Given the description of an element on the screen output the (x, y) to click on. 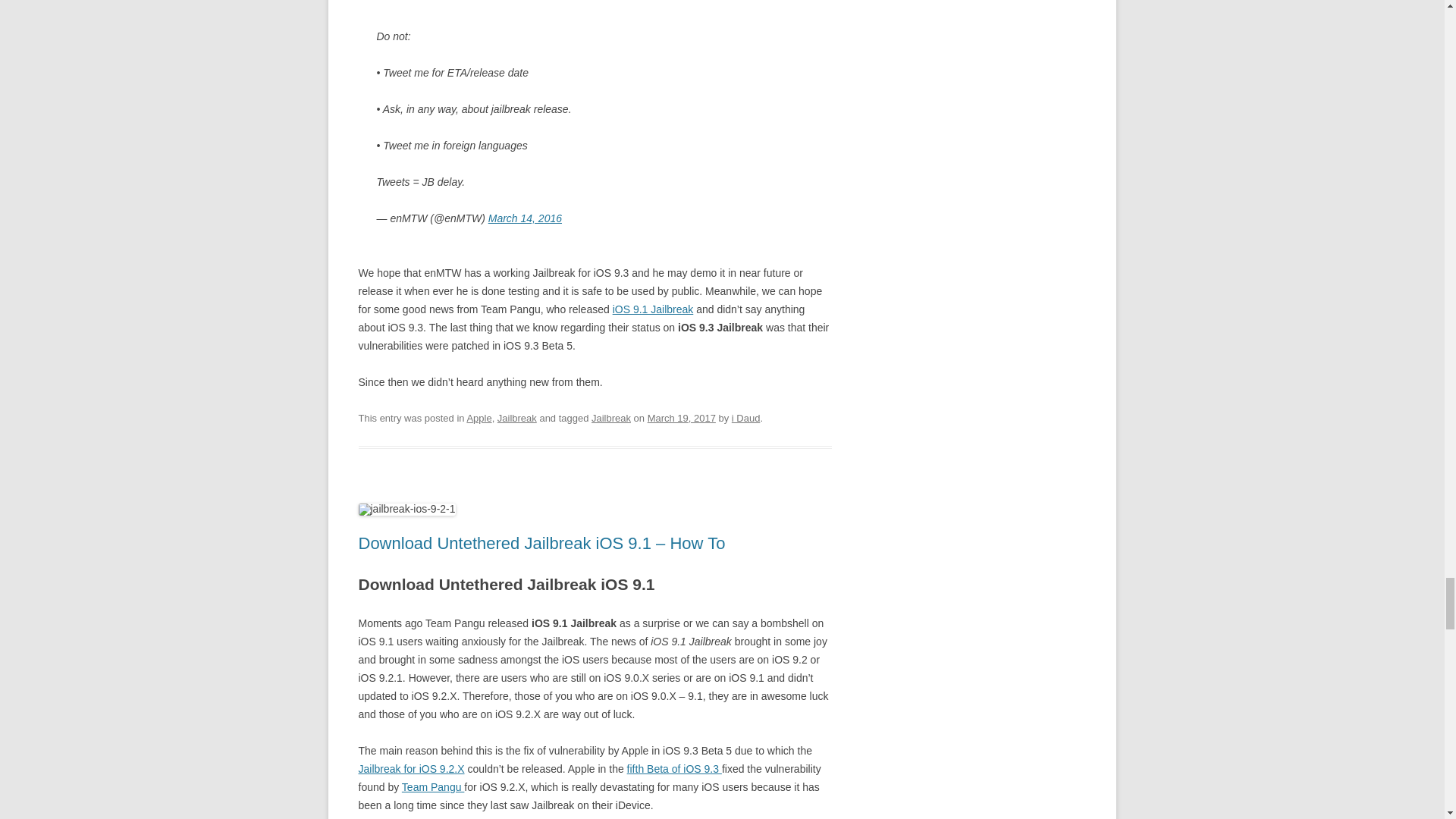
9:45 PM (681, 418)
View all posts by i Daud (746, 418)
Jailbreak (517, 418)
iOS 9.1 Jailbreak (653, 309)
Apple (478, 418)
March 14, 2016 (524, 218)
